Given the description of an element on the screen output the (x, y) to click on. 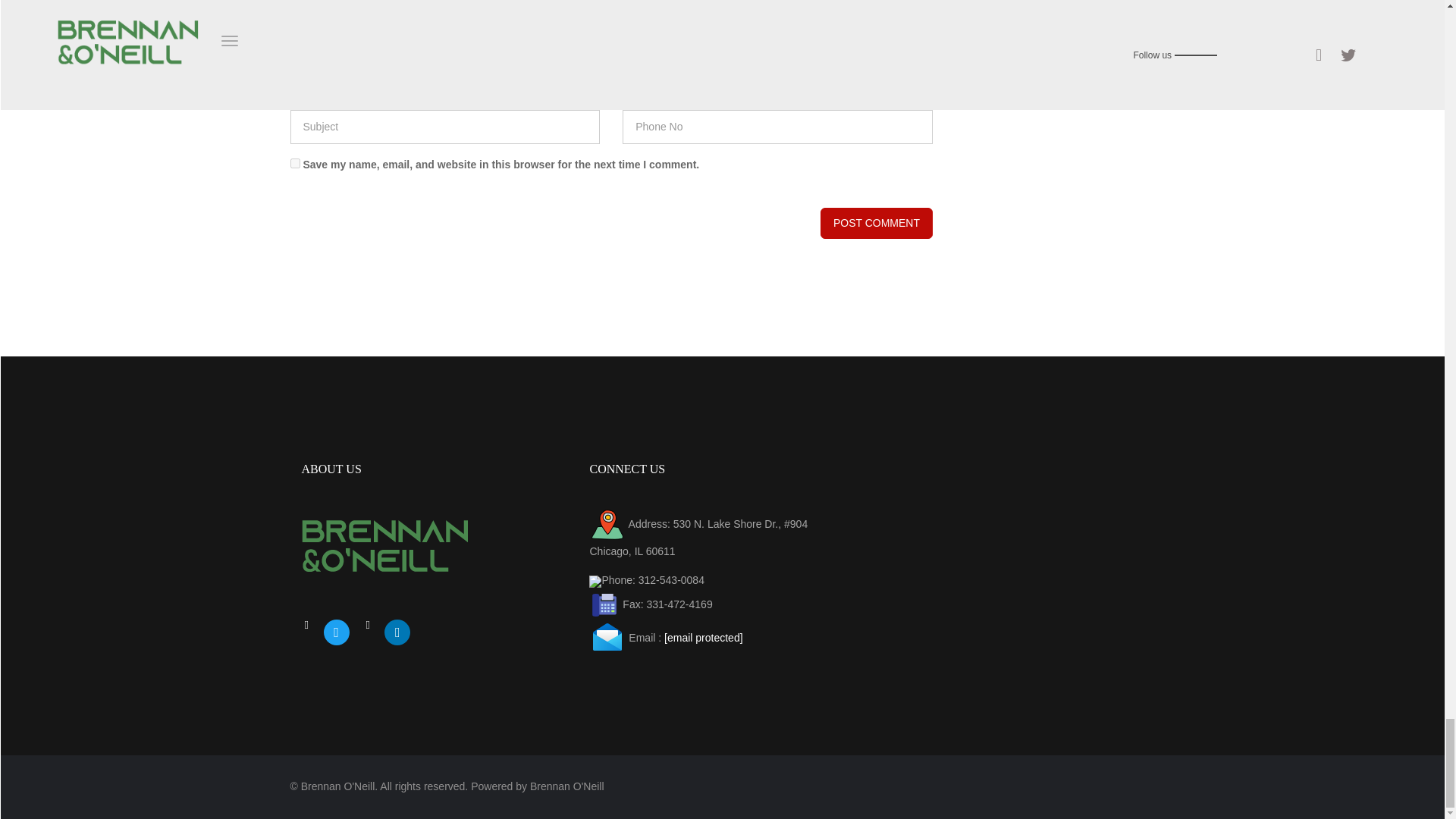
Post Comment (877, 223)
yes (294, 163)
linkedin (397, 630)
twitter (336, 630)
Post Comment (877, 223)
